Given the description of an element on the screen output the (x, y) to click on. 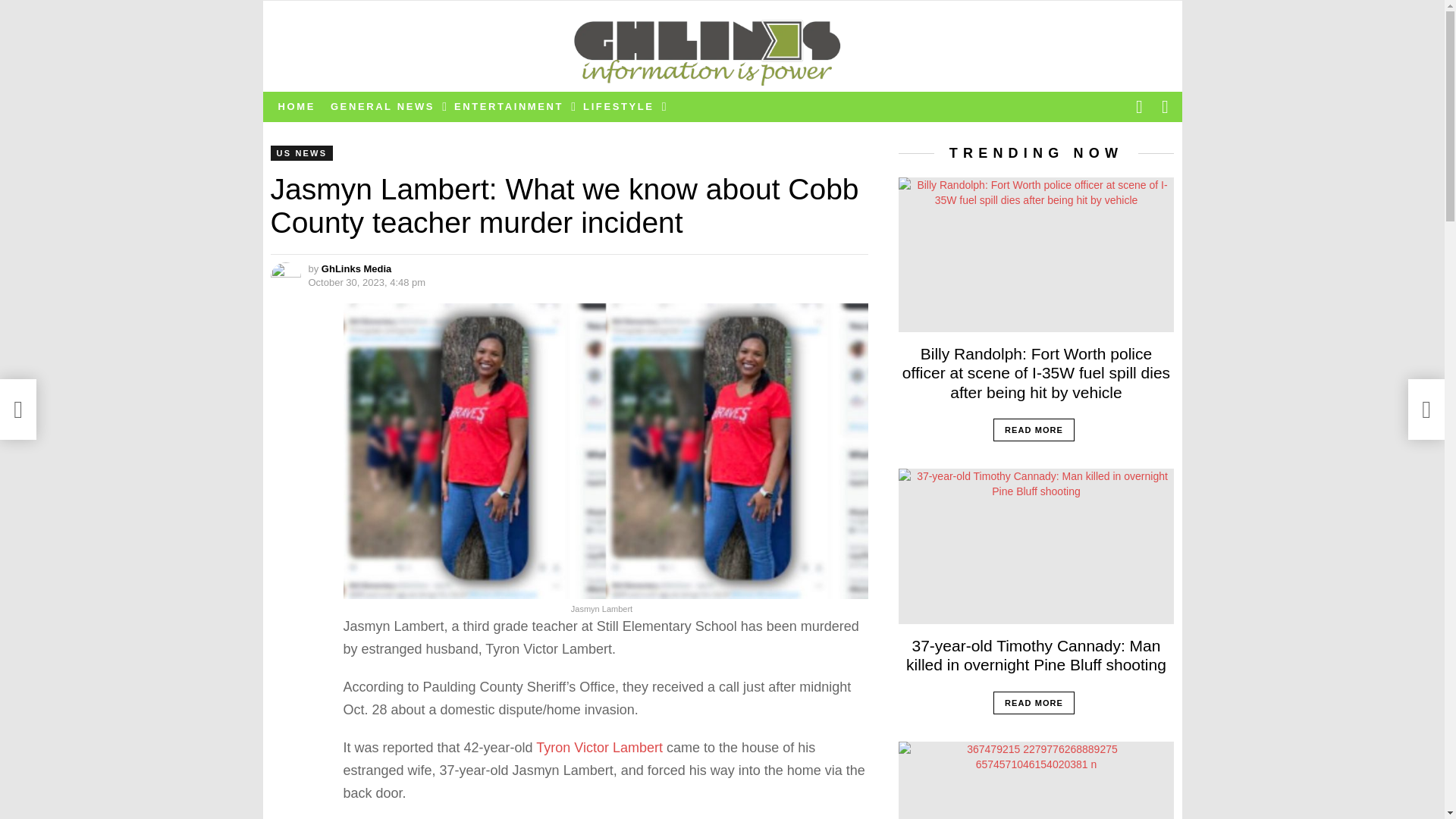
Posts by GhLinks Media (356, 268)
GENERAL NEWS (384, 106)
Tyron Victor Lambert (597, 747)
Tyron Victor Lambert (597, 747)
LIFESTYLE (620, 106)
ENTERTAINMENT (510, 106)
GhLinks Media (356, 268)
US NEWS (301, 152)
HOME (295, 106)
